Given the description of an element on the screen output the (x, y) to click on. 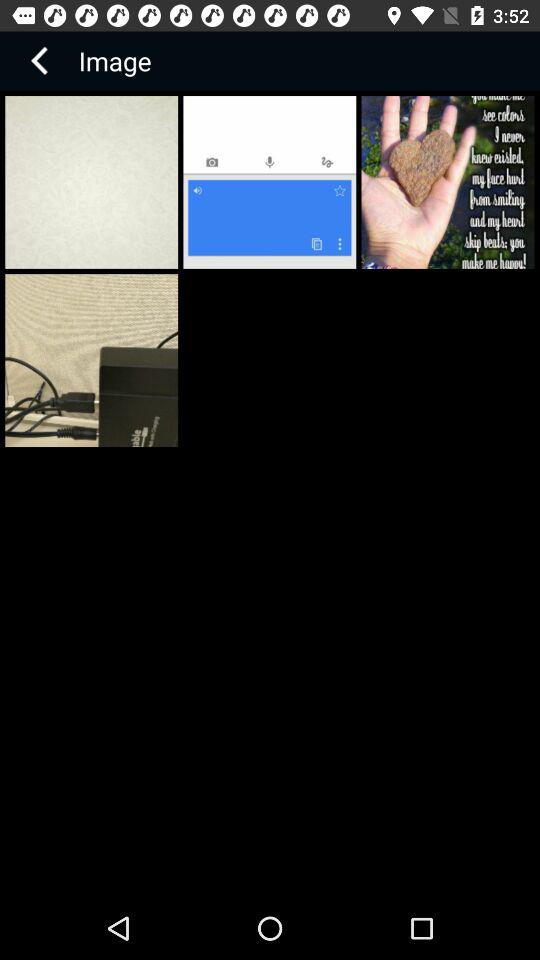
select item next to image (39, 60)
